Given the description of an element on the screen output the (x, y) to click on. 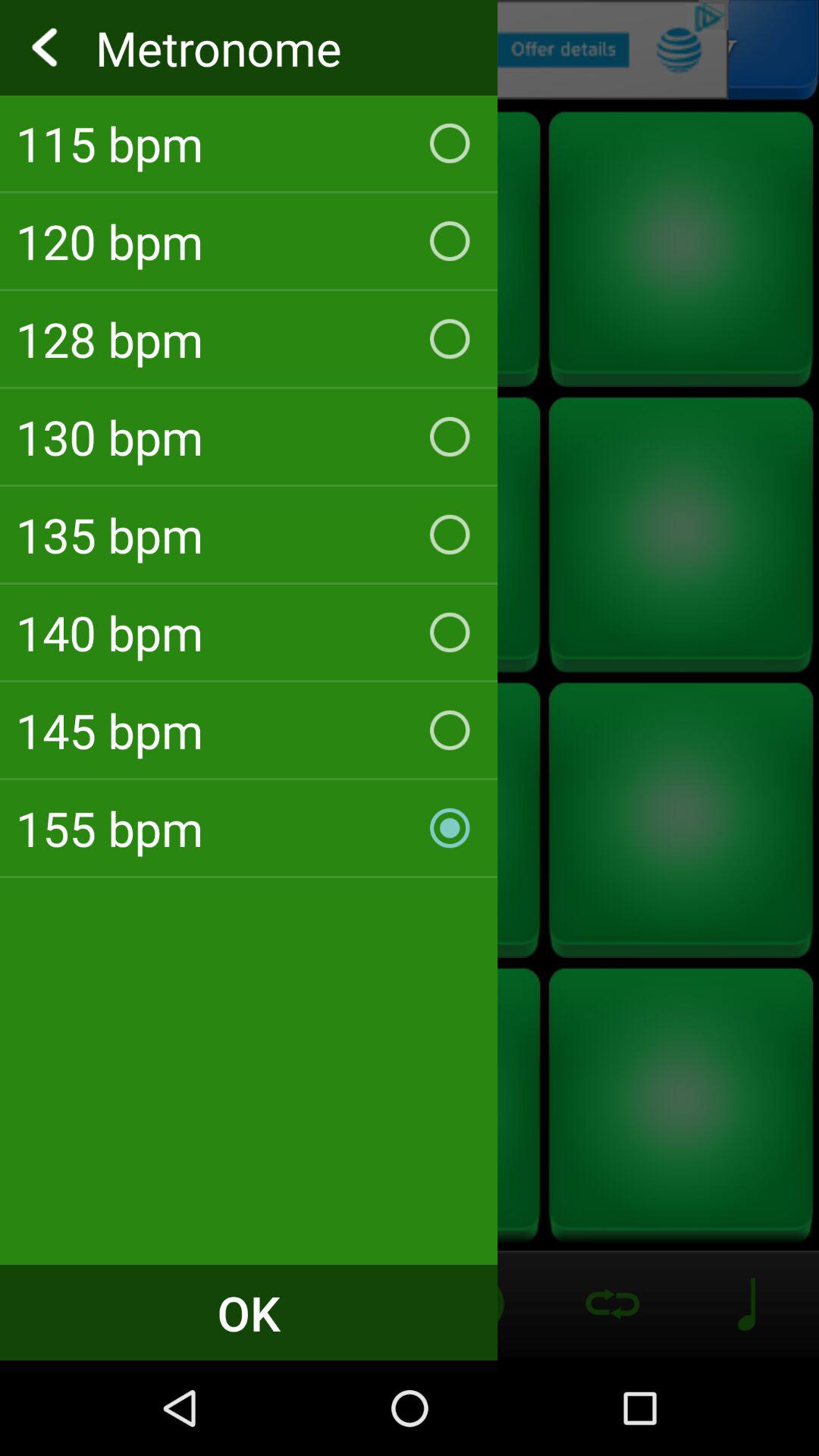
turn off the checkbox below 140 bpm (248, 730)
